Given the description of an element on the screen output the (x, y) to click on. 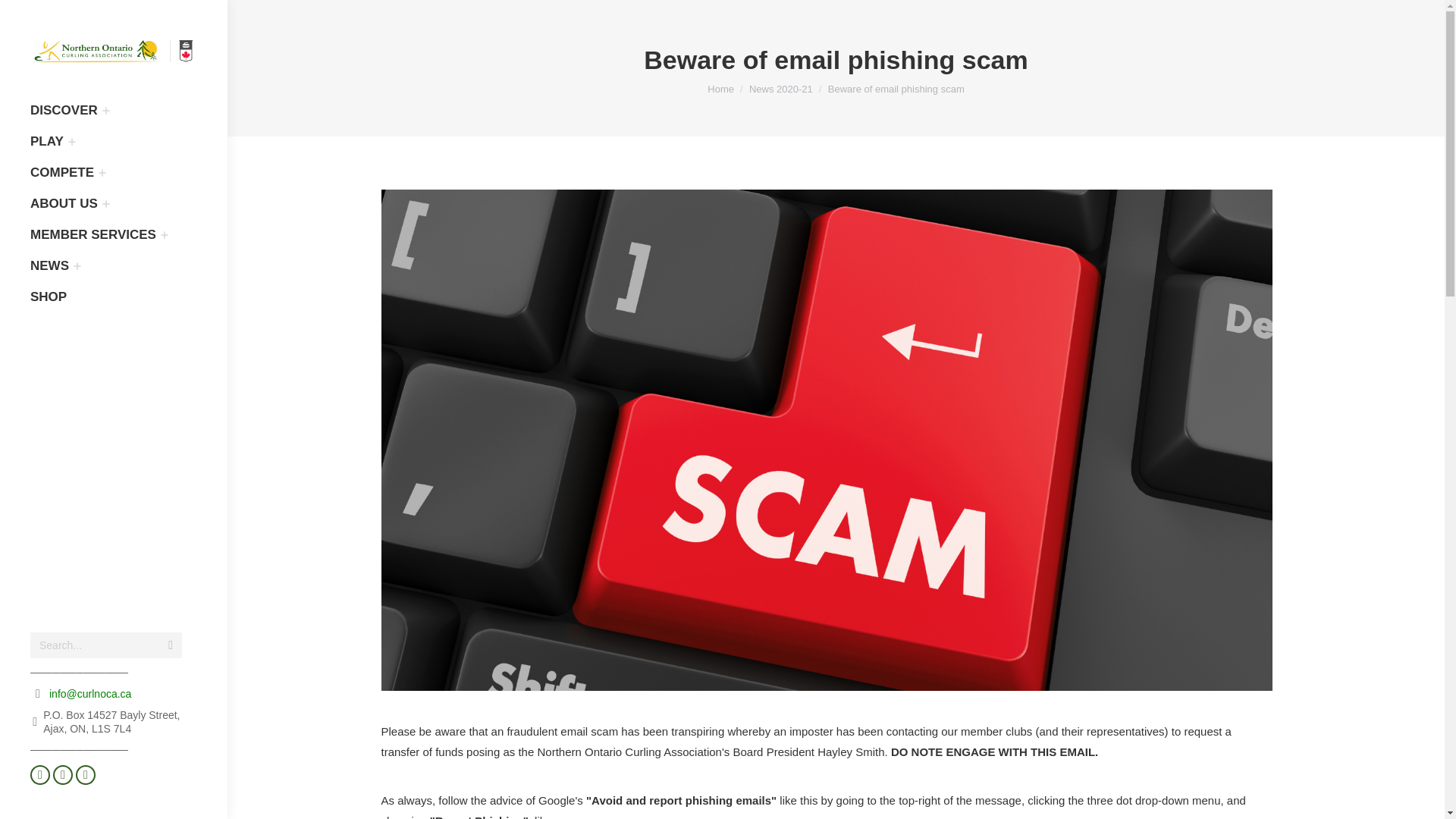
COMPETE (62, 172)
News 2020-21 (780, 89)
Home (720, 89)
Twitter page opens in new window (62, 774)
DISCOVER (63, 110)
Facebook page opens in new window (39, 774)
Search form (106, 645)
ABOUT US (63, 203)
PLAY (47, 141)
Instagram page opens in new window (85, 774)
